Given the description of an element on the screen output the (x, y) to click on. 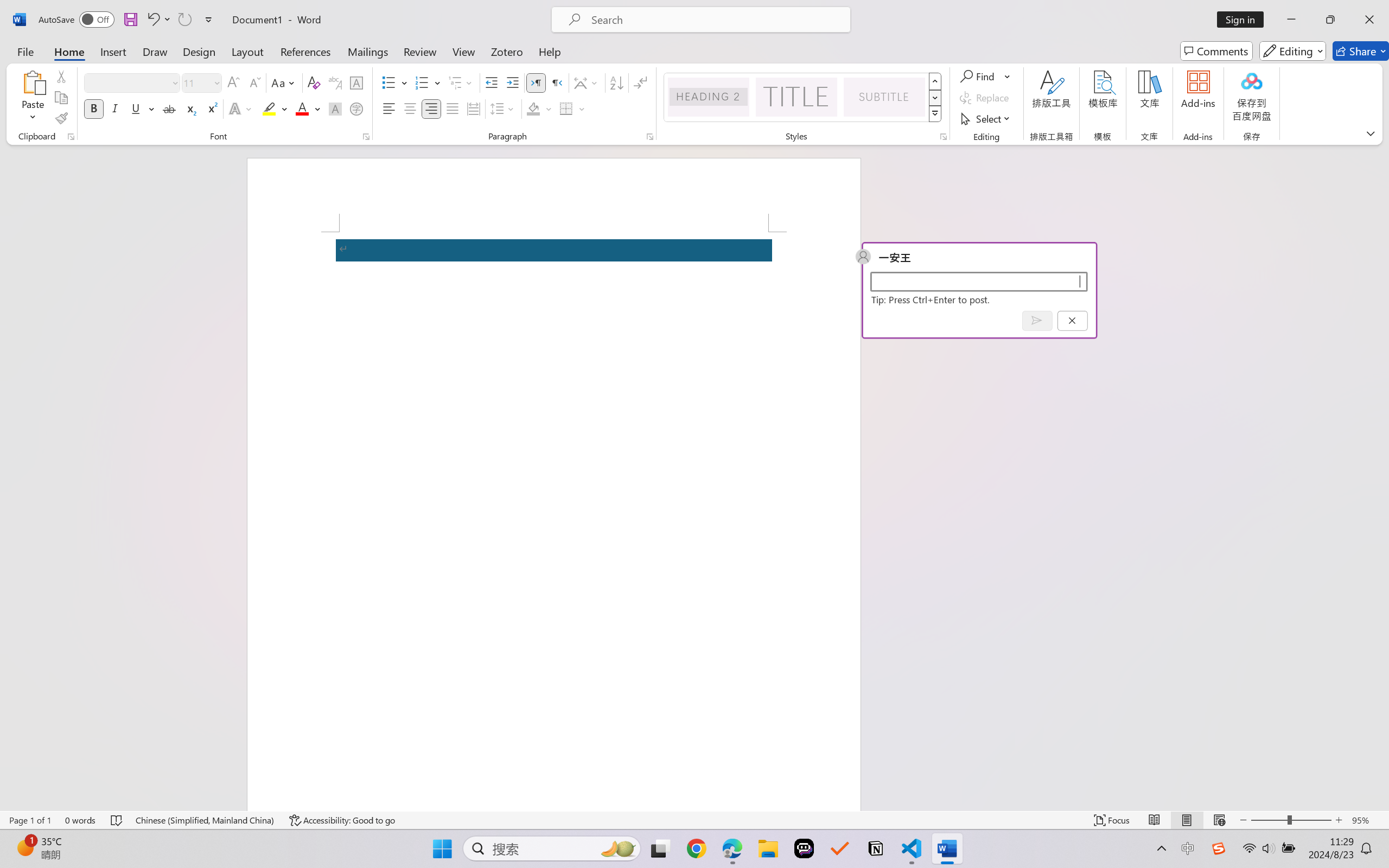
Repeat TCSCTranslate (184, 19)
